Given the description of an element on the screen output the (x, y) to click on. 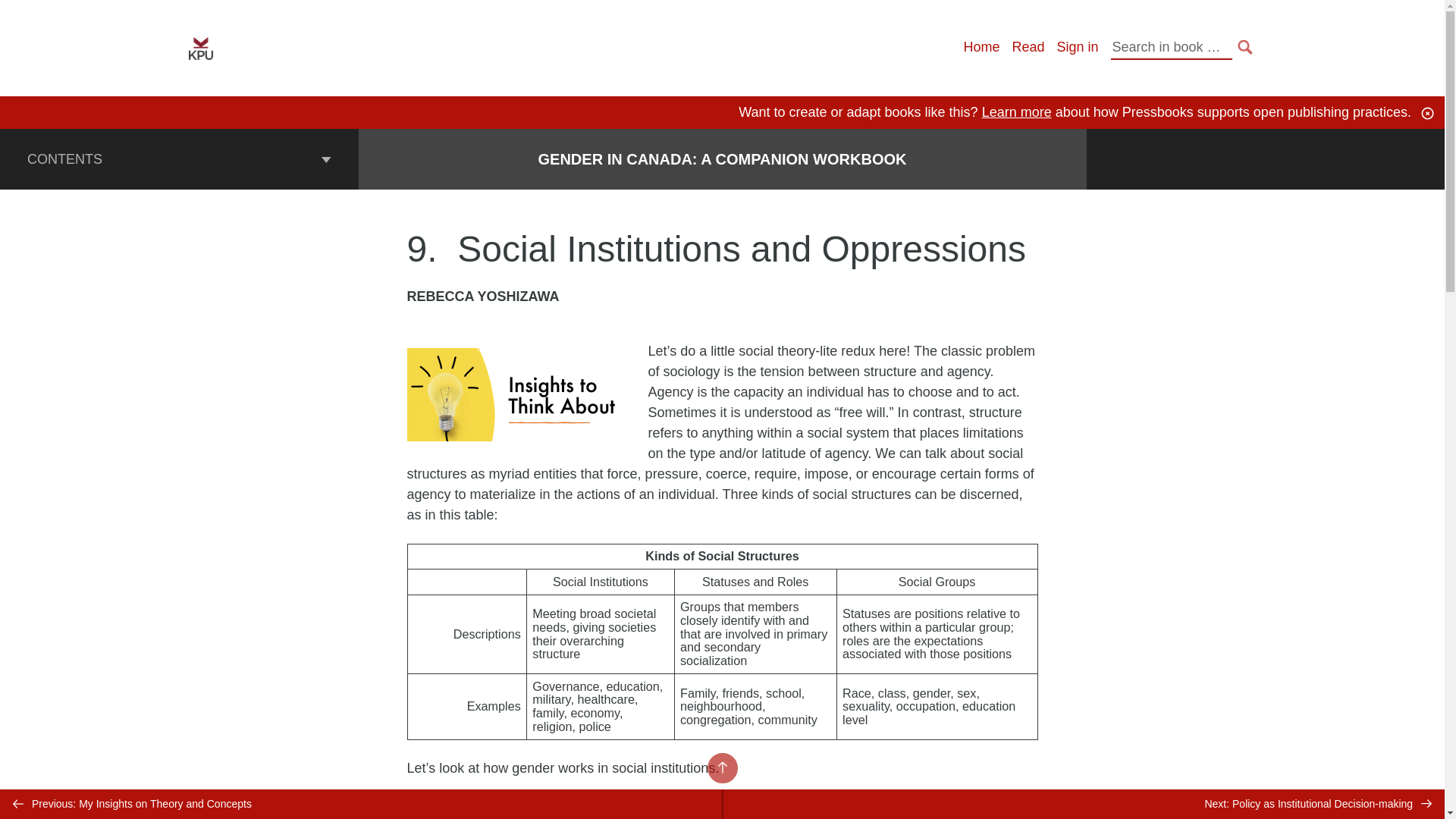
Home (980, 46)
Previous: My Insights on Theory and Concepts (361, 804)
CONTENTS (178, 158)
Learn more (1016, 111)
Previous: My Insights on Theory and Concepts (361, 804)
BACK TO TOP (721, 767)
Sign in (1077, 46)
GENDER IN CANADA: A COMPANION WORKBOOK (722, 159)
Read (1027, 46)
